Given the description of an element on the screen output the (x, y) to click on. 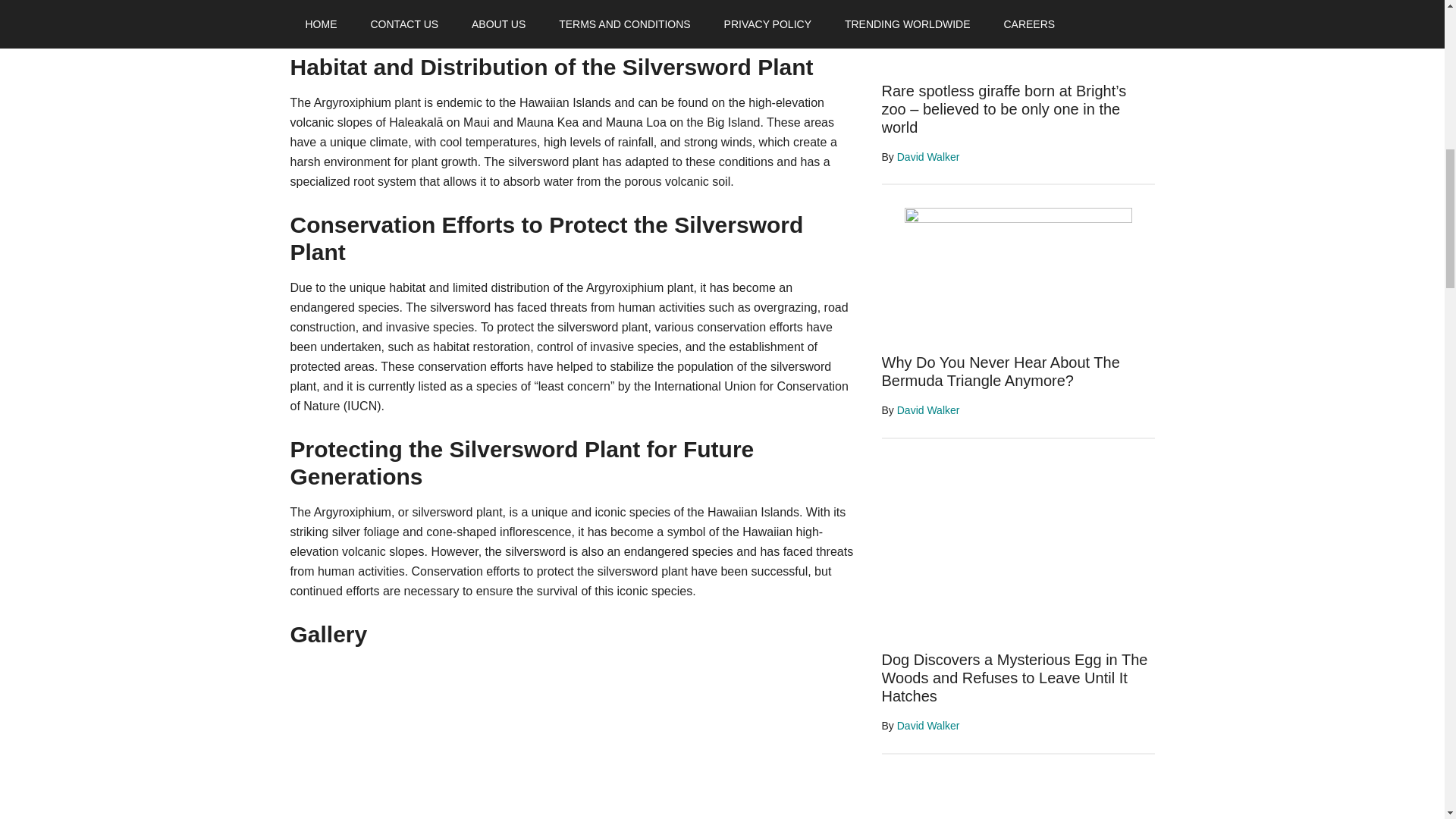
David Walker (927, 410)
Why Do You Never Hear About The Bermuda Triangle Anymore? (999, 371)
David Walker (927, 725)
David Walker (927, 156)
